Given the description of an element on the screen output the (x, y) to click on. 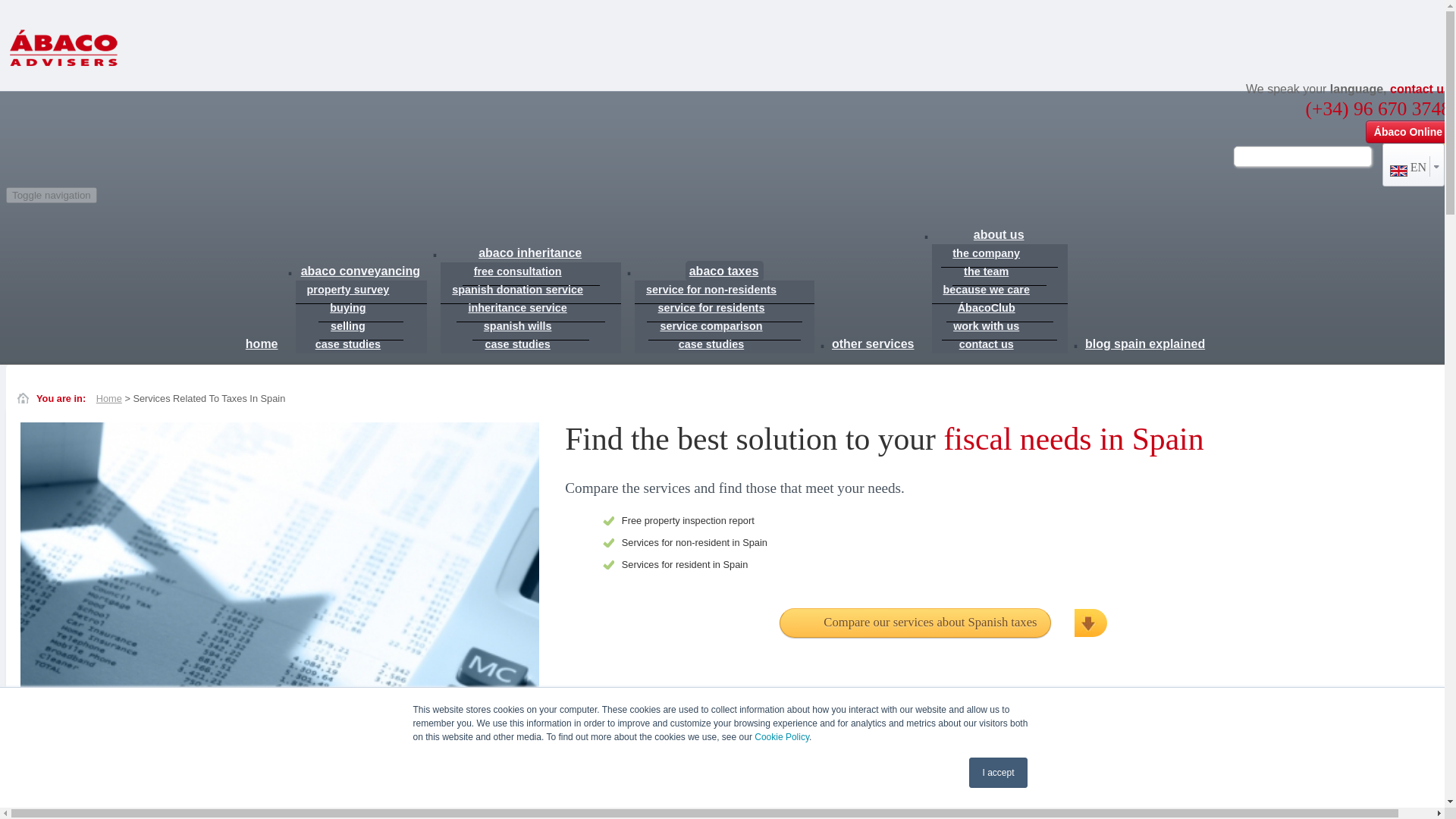
the team (999, 271)
contact us (1420, 88)
inheritance service (530, 308)
I accept (997, 772)
spanish wills (530, 326)
home (261, 343)
Services related to taxes in Spain (64, 49)
free consultation (531, 271)
Enter the terms you wish to search for. (1302, 156)
Home (109, 398)
Services related to taxes in Spain (64, 49)
case studies (530, 343)
Toggle navigation (51, 195)
Search (1415, 156)
abaco inheritance (530, 252)
